Given the description of an element on the screen output the (x, y) to click on. 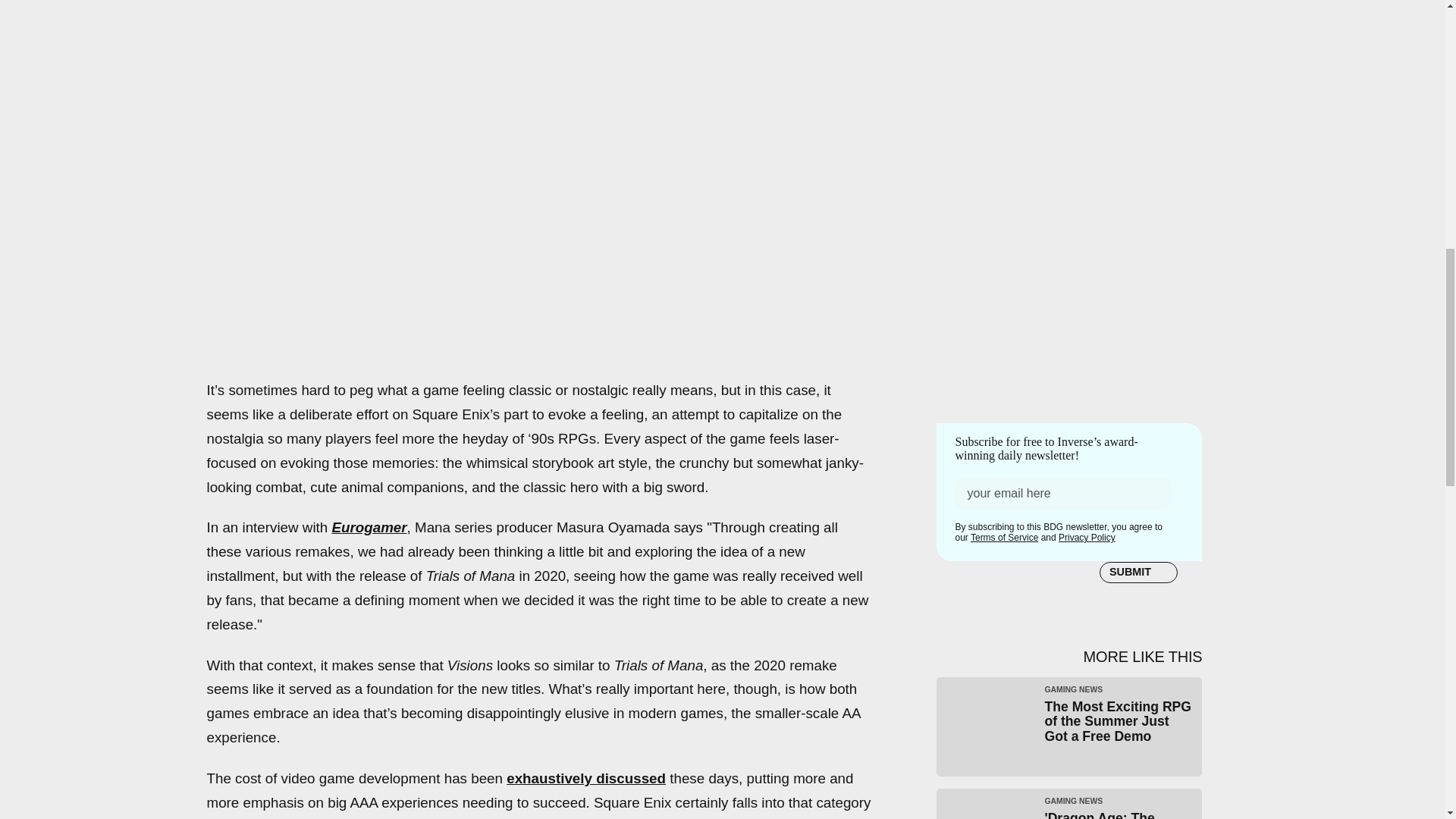
Eurogamer (368, 527)
exhaustively discussed (585, 778)
SUBMIT (1138, 571)
Privacy Policy (1086, 537)
Terms of Service (1004, 537)
